Given the description of an element on the screen output the (x, y) to click on. 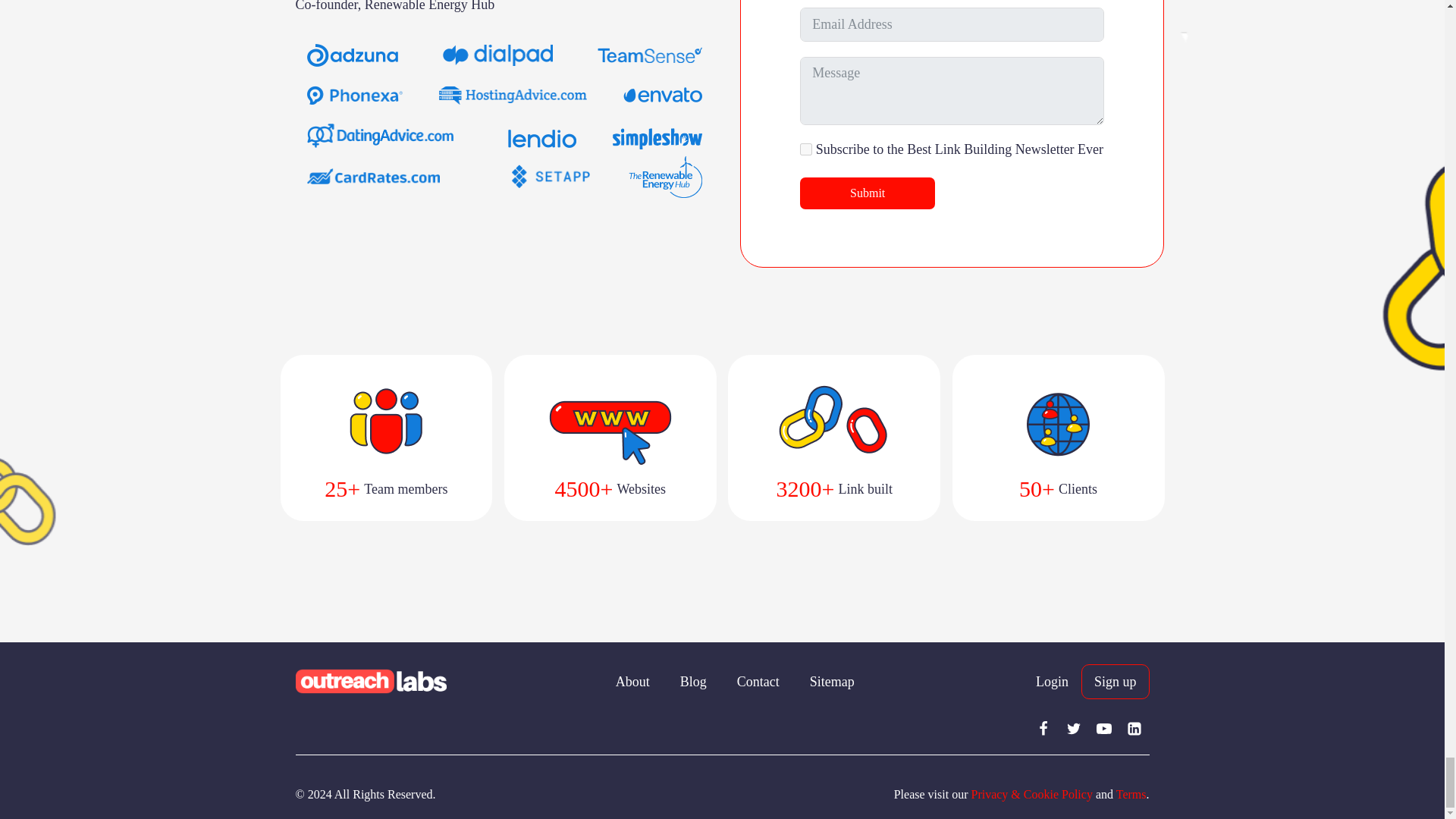
Subscribe to the Best Link Building Newsletter Ever (805, 149)
